Given the description of an element on the screen output the (x, y) to click on. 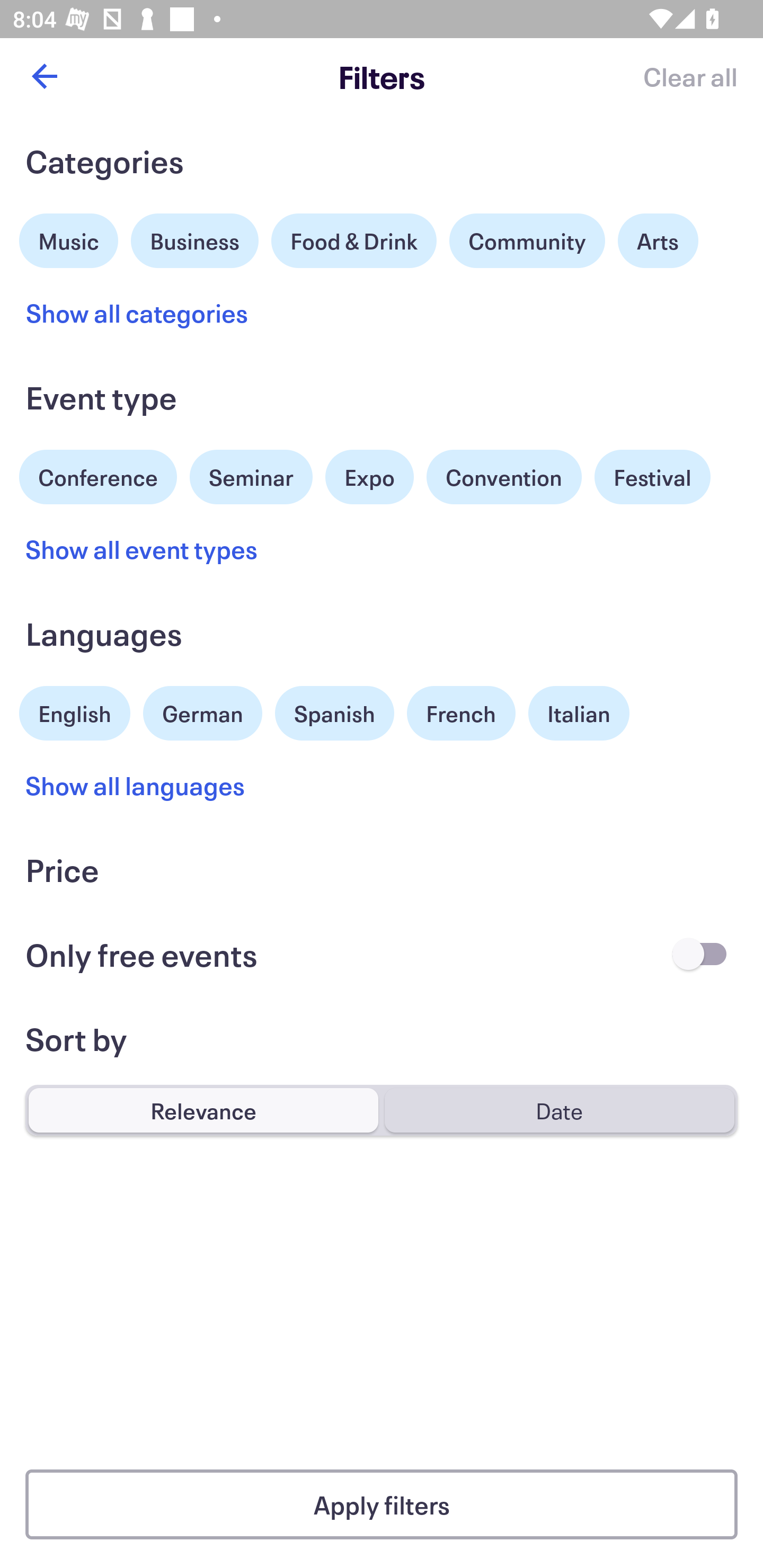
Back button (44, 75)
Clear all (690, 75)
Music (68, 238)
Business (194, 238)
Food & Drink (353, 240)
Community (527, 240)
Arts (658, 240)
Show all categories (136, 312)
Conference (98, 475)
Seminar (250, 477)
Expo (369, 477)
Convention (503, 477)
Festival (652, 477)
Show all event types (141, 548)
English (74, 710)
German (202, 710)
Spanish (334, 713)
French (460, 713)
Italian (578, 713)
Show all languages (135, 784)
Relevance (203, 1109)
Date (559, 1109)
Apply filters (381, 1504)
